Given the description of an element on the screen output the (x, y) to click on. 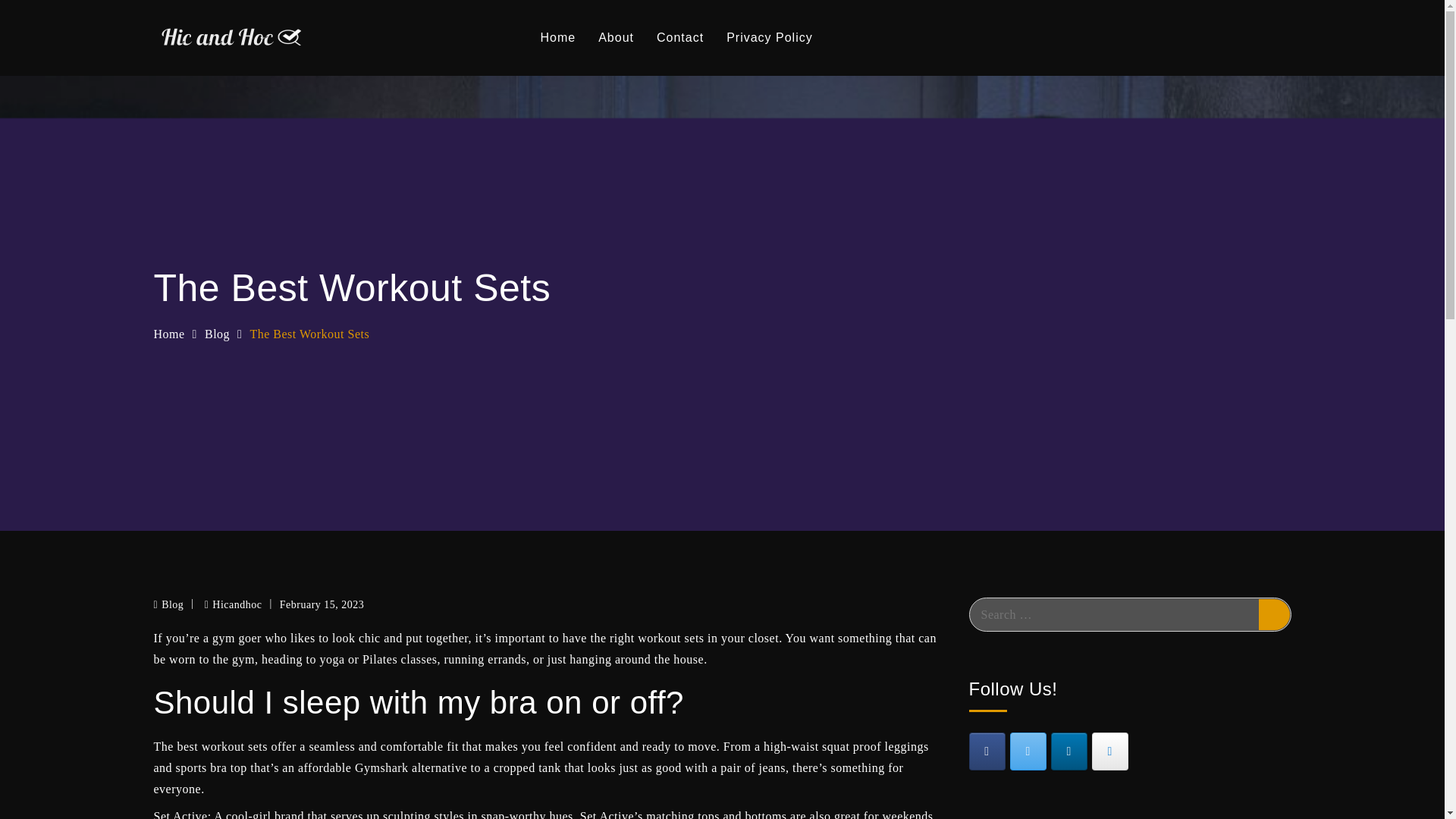
Blog (172, 604)
Hic and Hoc on Linkedin (1069, 751)
Hic and Hoc on X Twitter (1028, 751)
Home (168, 333)
Hic and Hoc on Facebook (987, 751)
Search (1274, 613)
Privacy Policy (769, 38)
Hicandhoc (233, 604)
February 15, 2023 (322, 604)
Blog (217, 333)
